Given the description of an element on the screen output the (x, y) to click on. 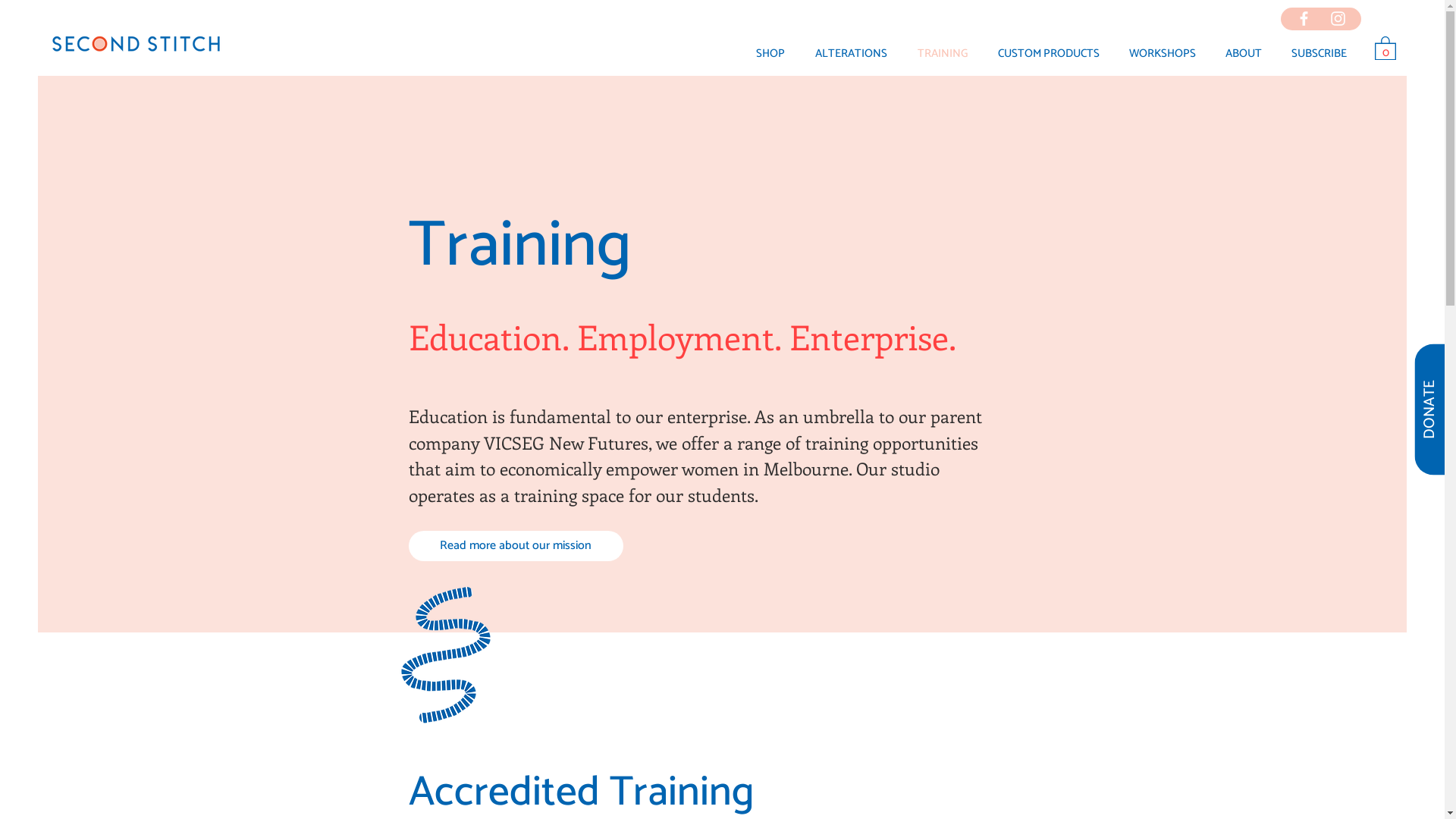
CUSTOM PRODUCTS Element type: text (1047, 53)
Read more about our mission Element type: text (514, 545)
SUBSCRIBE Element type: text (1318, 53)
SHOP Element type: text (770, 53)
TRAINING Element type: text (942, 53)
WORKSHOPS Element type: text (1161, 53)
0 Element type: text (1385, 46)
ALTERATIONS Element type: text (851, 53)
